Given the description of an element on the screen output the (x, y) to click on. 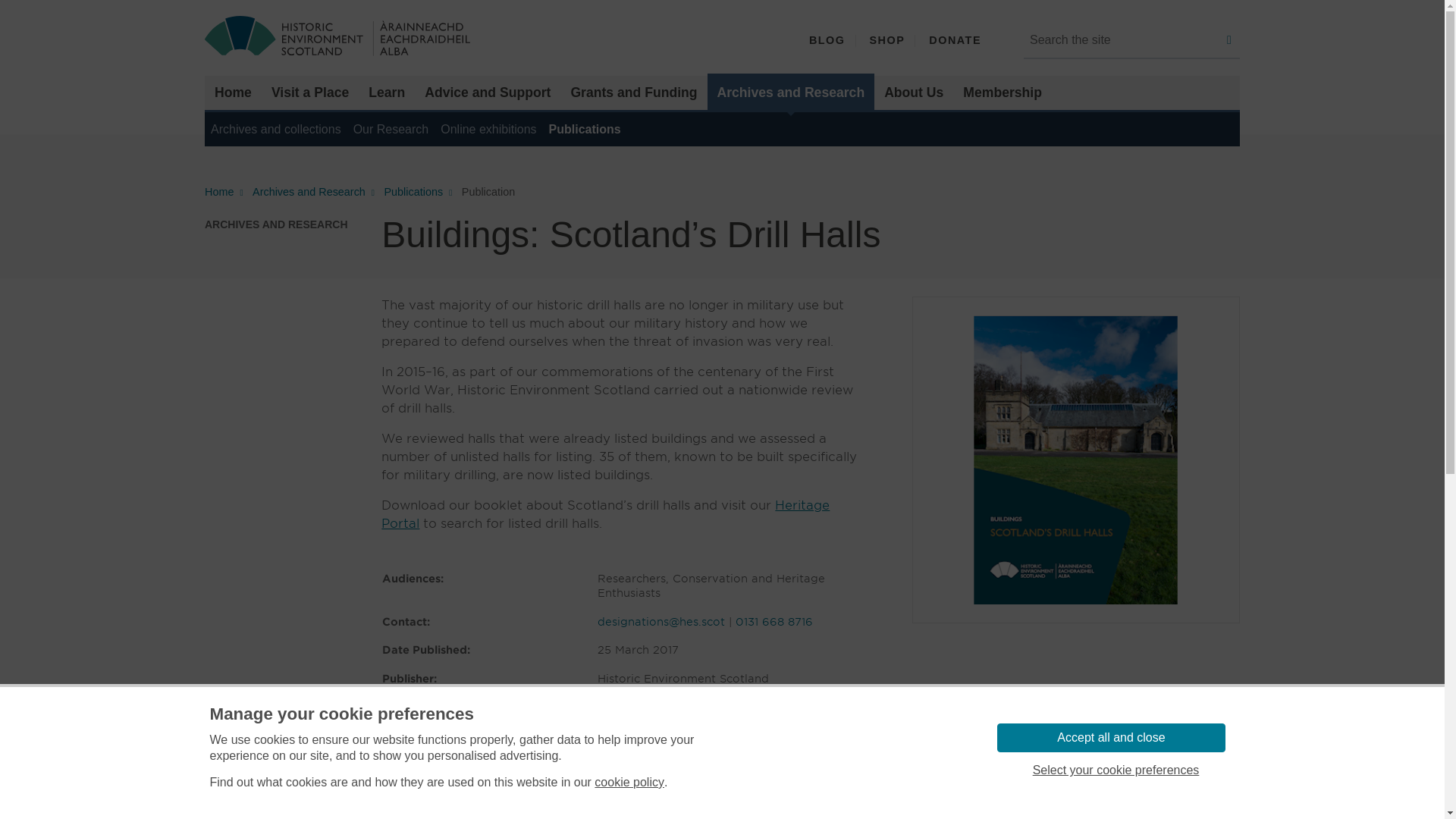
Select your cookie preferences (1114, 770)
Learn (386, 92)
Advice and Support (487, 92)
cookie policy (628, 782)
Home (233, 92)
Accept all and close (1110, 737)
Visit a Place (310, 92)
